Given the description of an element on the screen output the (x, y) to click on. 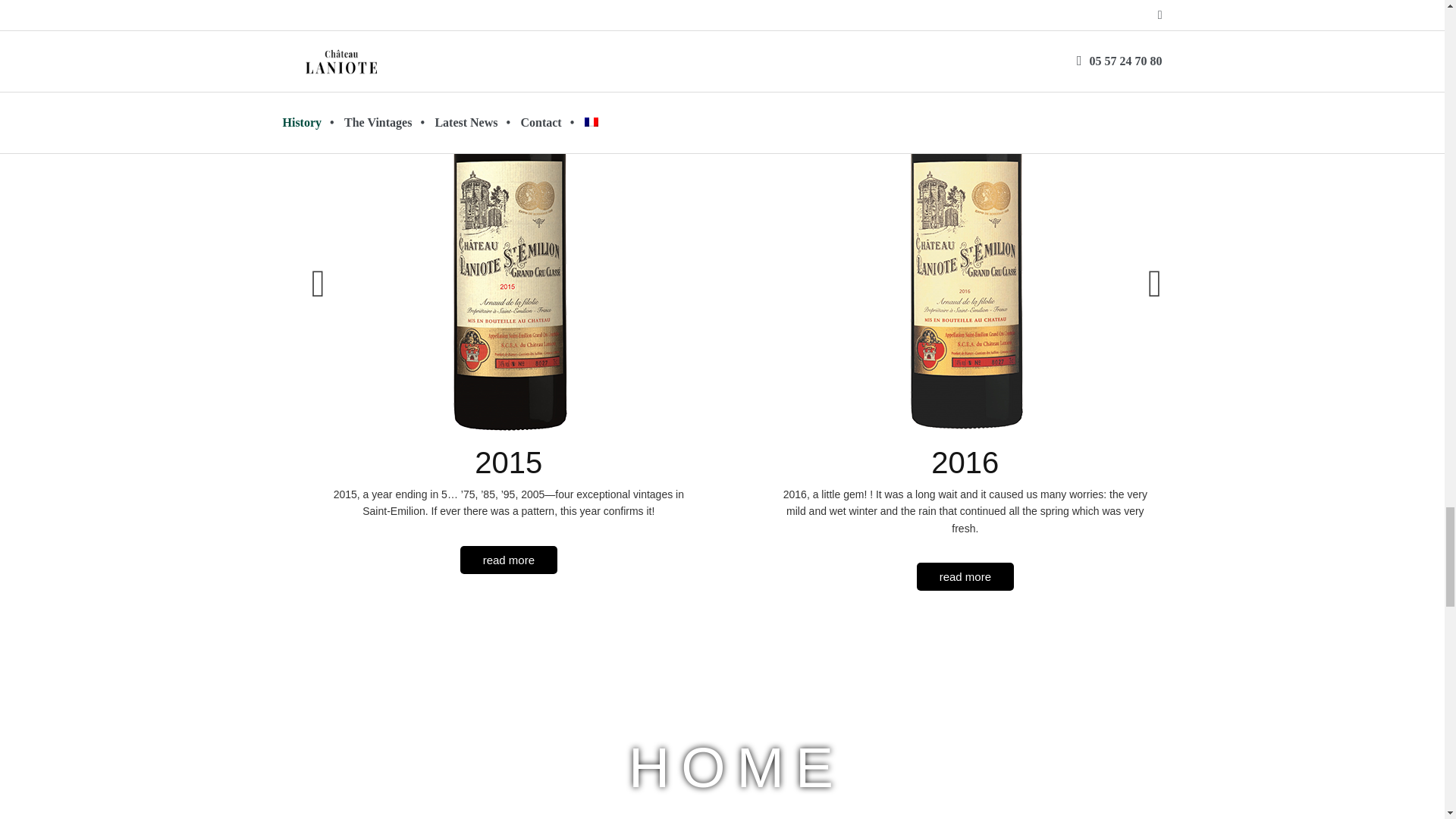
PREVIOUS (318, 289)
read more (965, 576)
read more (508, 560)
